Given the description of an element on the screen output the (x, y) to click on. 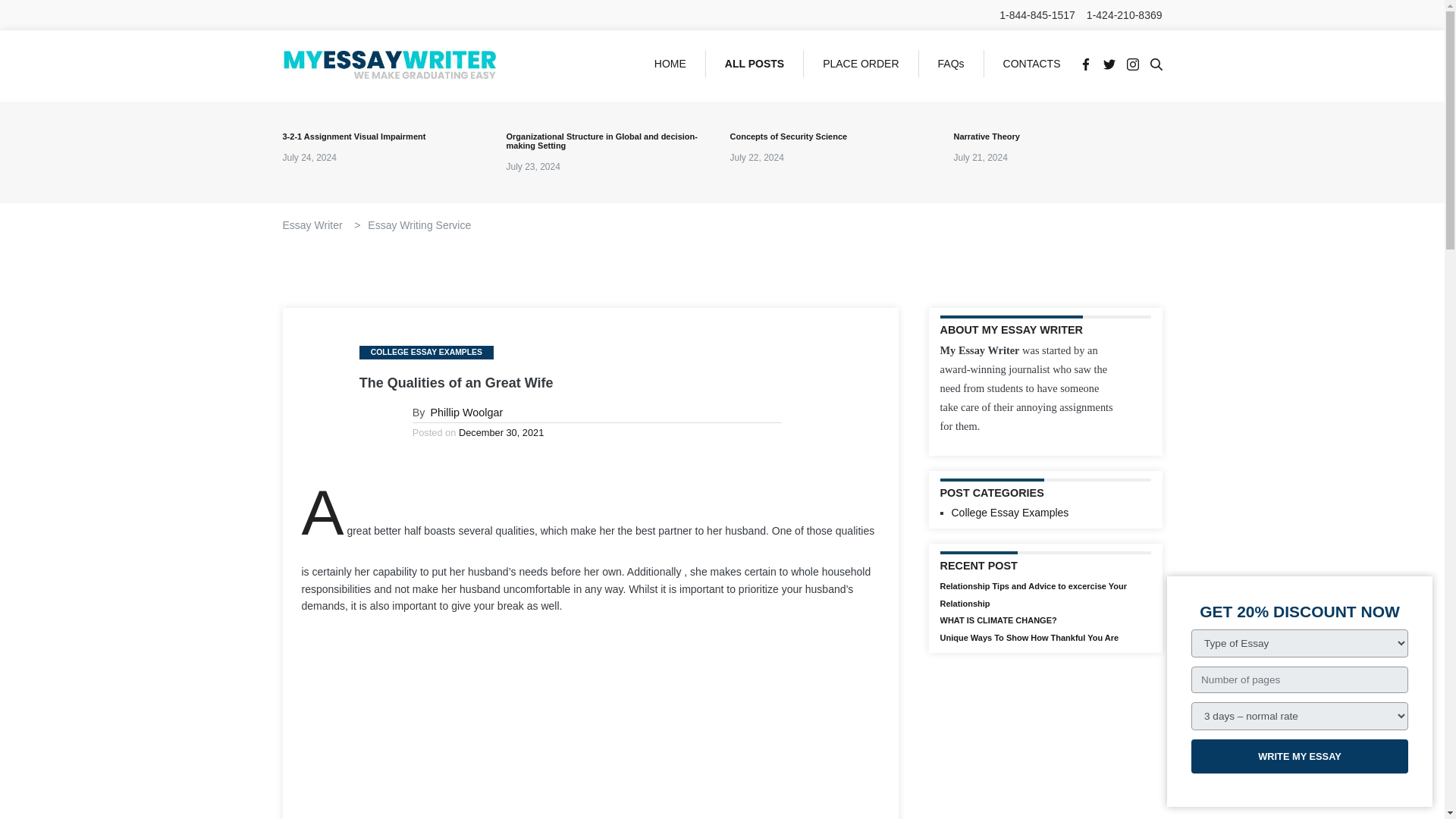
December 30, 2021 (500, 432)
3-2-1 Assignment Visual Impairment (386, 135)
PLACE ORDER (860, 63)
Essay Writing Service (419, 224)
Narrative Theory (1057, 135)
WRITE MY ESSAY (1299, 756)
1-424-210-8369 (1123, 15)
1-844-845-1517 (1036, 15)
COLLEGE ESSAY EXAMPLES (426, 352)
Posts by Hanna Robinson (466, 412)
HOME (670, 63)
Concepts of Security Science (833, 135)
Phillip Woolgar (466, 412)
ALL POSTS (754, 63)
FAQs (951, 63)
